Given the description of an element on the screen output the (x, y) to click on. 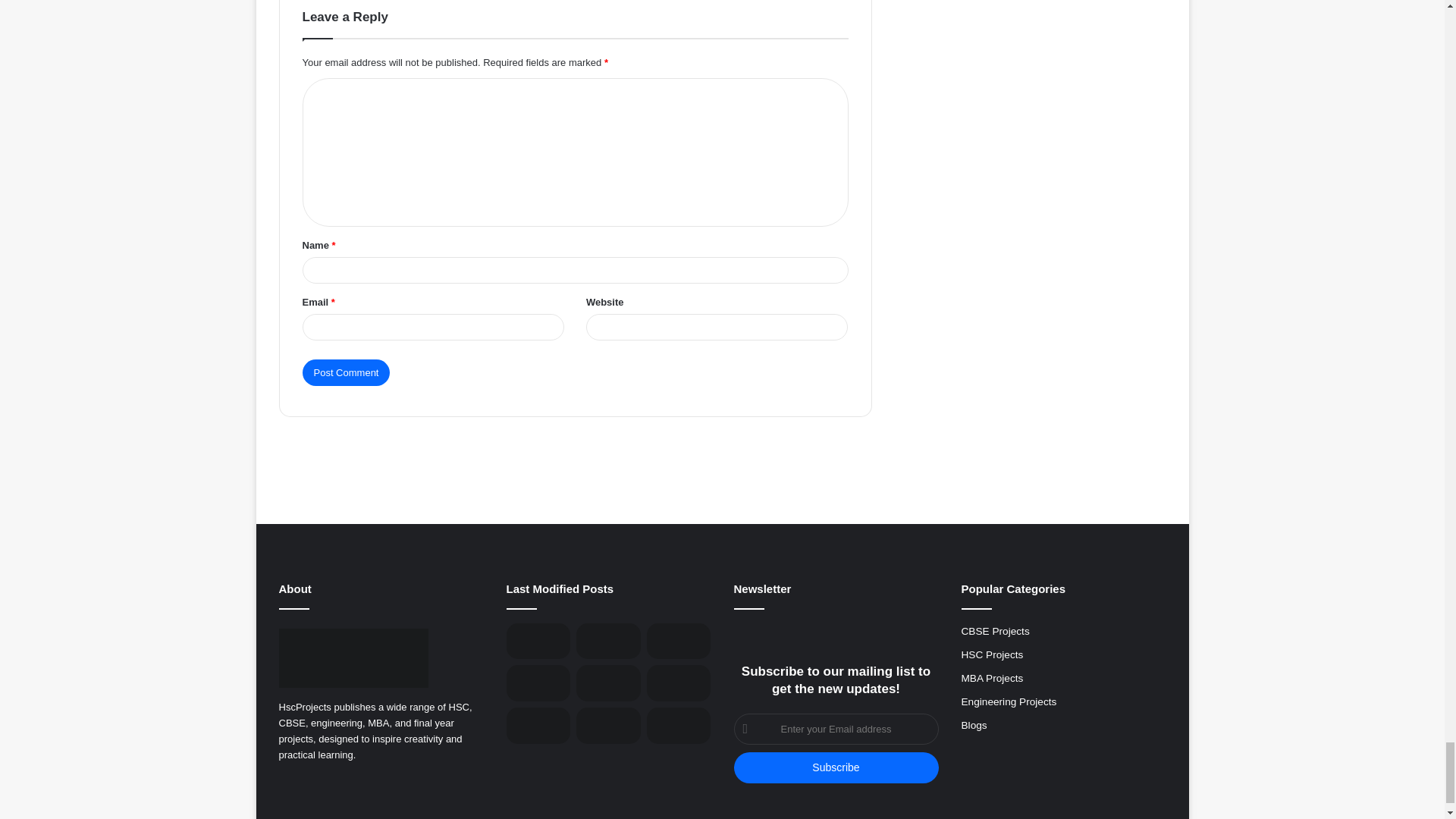
Post Comment (345, 372)
Subscribe (836, 767)
